Given the description of an element on the screen output the (x, y) to click on. 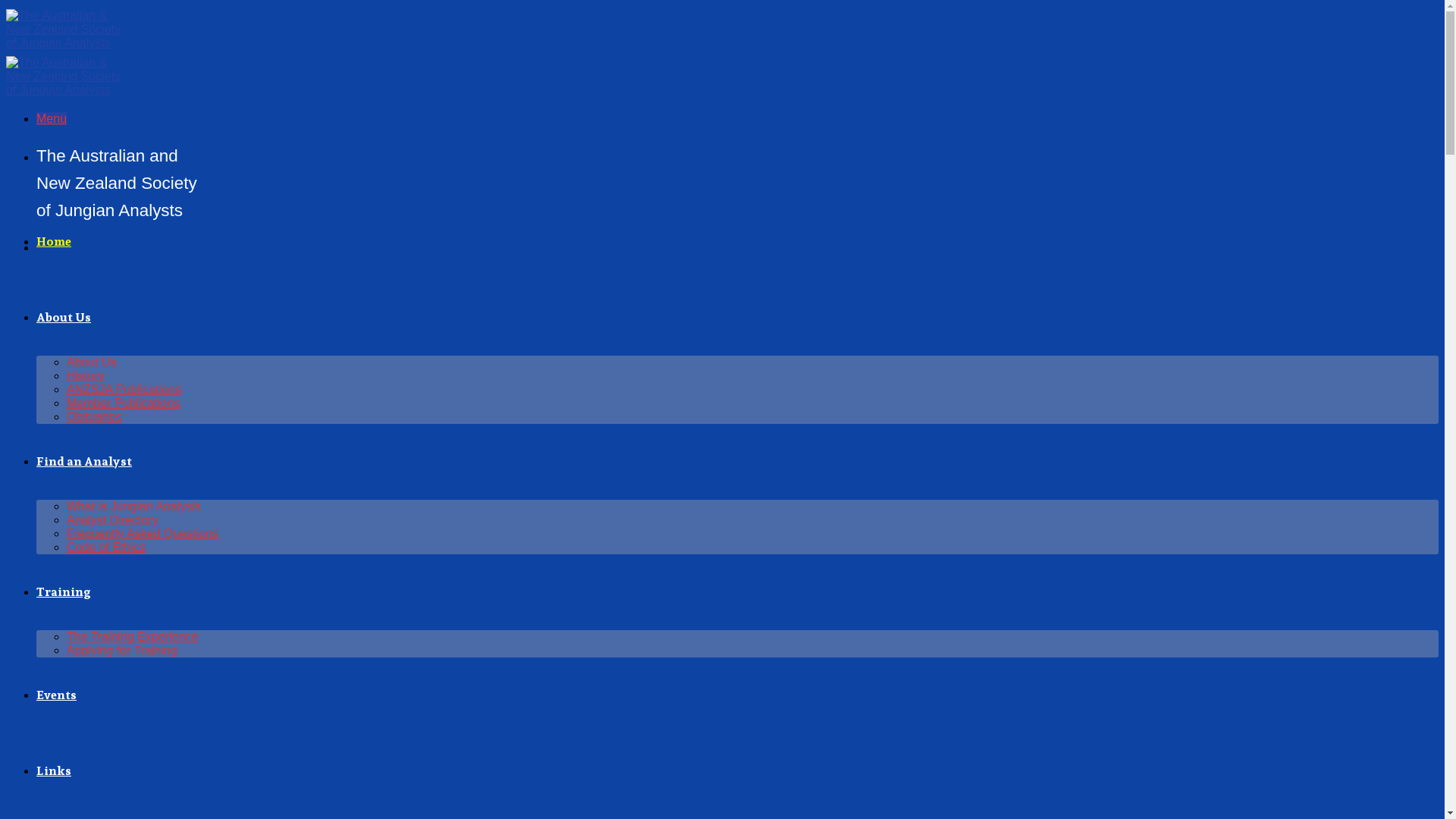
What is Jungian Analysis Element type: text (133, 505)
Find an Analyst Element type: text (83, 461)
Training Element type: text (63, 591)
Obituaries Element type: text (94, 416)
Skip to content Element type: text (5, 5)
Events Element type: text (56, 694)
Home Element type: text (53, 241)
History Element type: text (85, 375)
Member Publications Element type: text (122, 402)
ANZSJA Publications Element type: text (123, 388)
Frequently Asked Questions Element type: text (142, 533)
Links Element type: text (53, 770)
About Us Element type: text (91, 361)
Menu Element type: text (51, 118)
Code of Ethics Element type: text (105, 546)
Analyst Directory Element type: text (112, 519)
The Australian & New Zealand Society of Jungian Analysts Element type: hover (66, 66)
The Training Experience Element type: text (131, 636)
About Us Element type: text (63, 317)
Applying for Training Element type: text (121, 649)
